Given the description of an element on the screen output the (x, y) to click on. 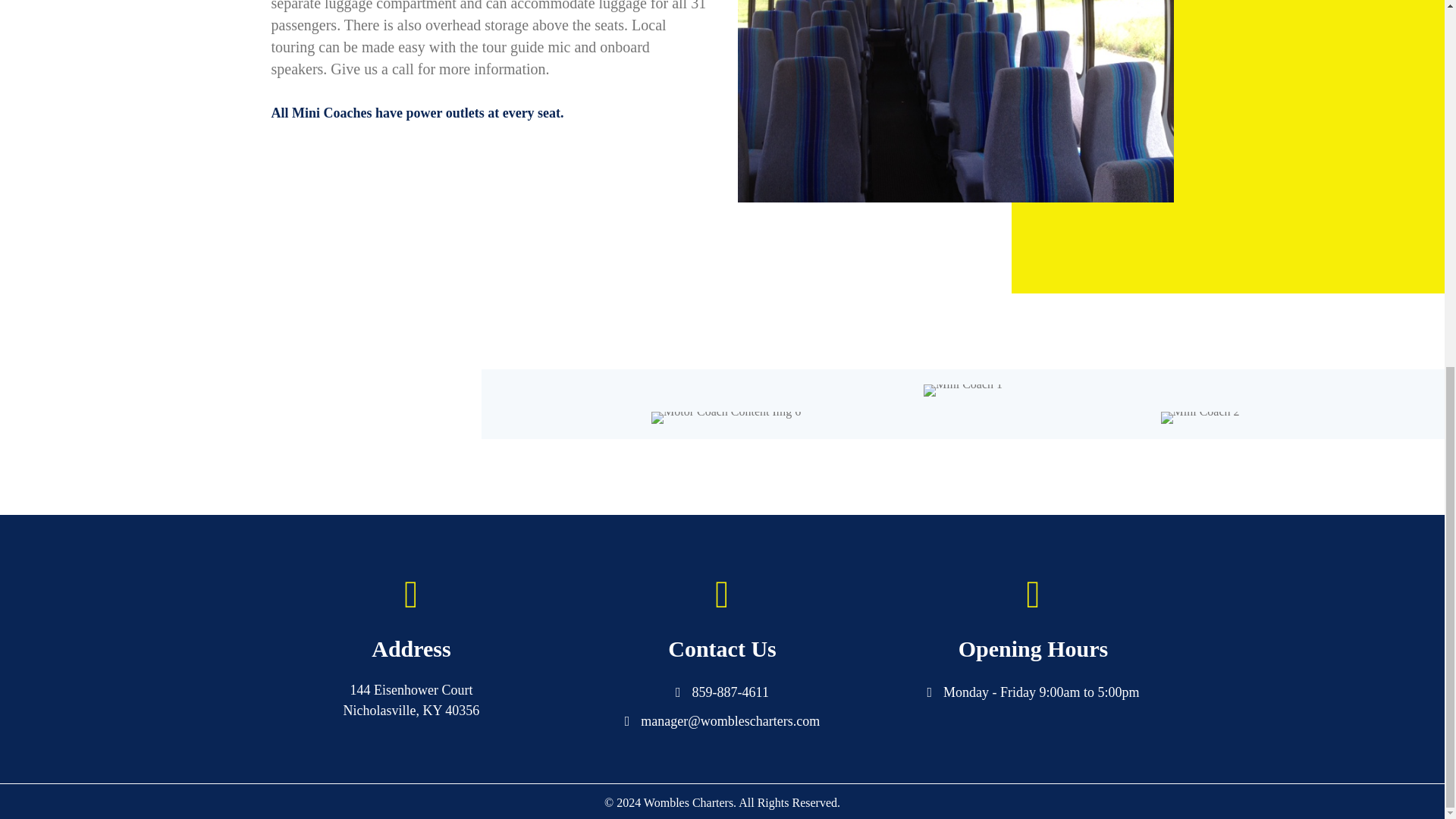
859-887-4611 (730, 692)
Mini Coach 1 (963, 390)
Mini Coach 6 (954, 101)
Motor Coach Content Img 6 (725, 417)
Mini Coach 2 (1200, 417)
Monday - Friday 9:00am to 5:00pm (1040, 691)
